Given the description of an element on the screen output the (x, y) to click on. 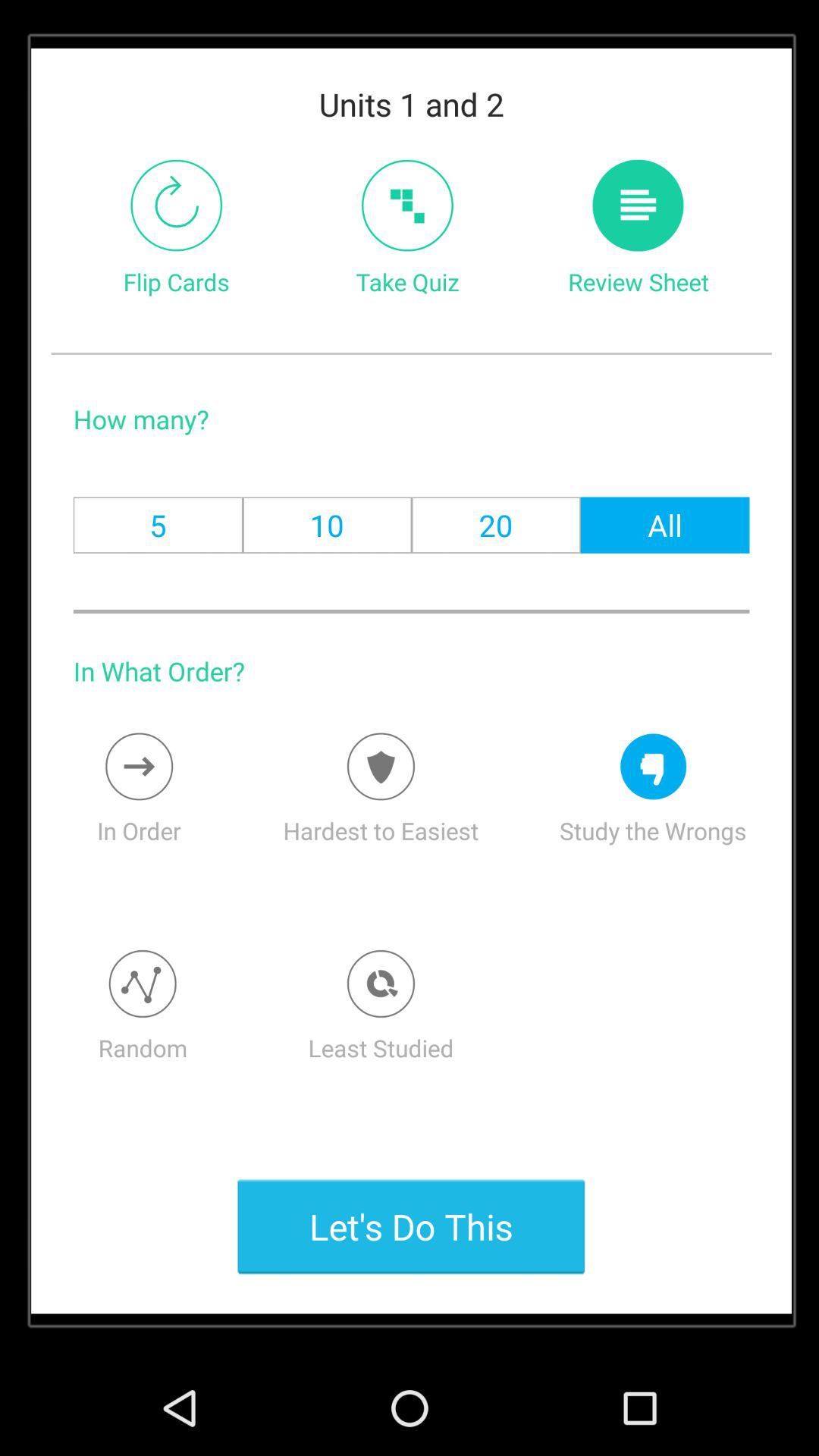
open the item to the left of the hardest to easiest (139, 766)
